Given the description of an element on the screen output the (x, y) to click on. 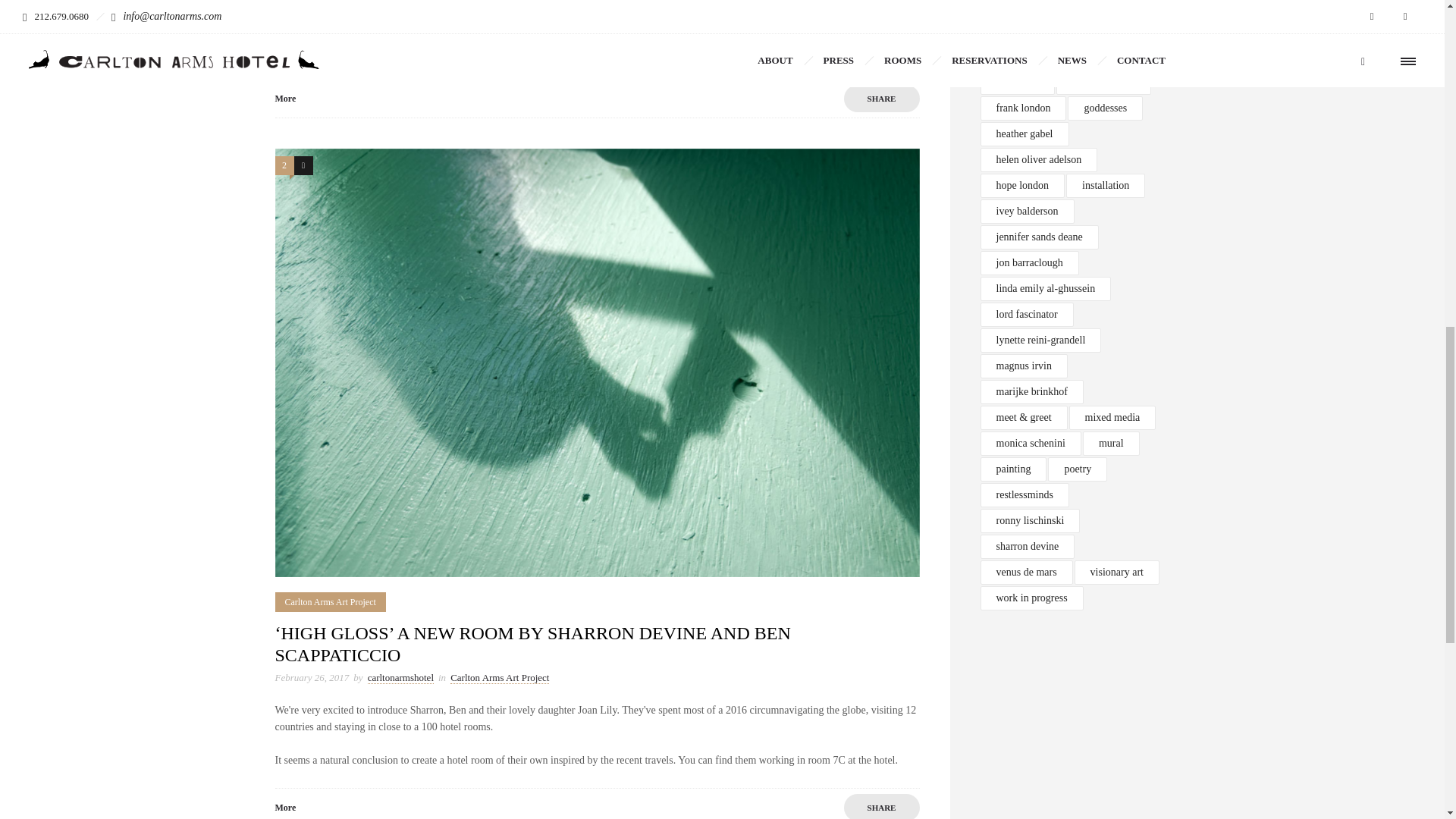
carltonarmshotel (383, 18)
TURN AND FACE THE STRANGE (409, 2)
More (285, 98)
Carlton Arms Art Project (482, 18)
